Given the description of an element on the screen output the (x, y) to click on. 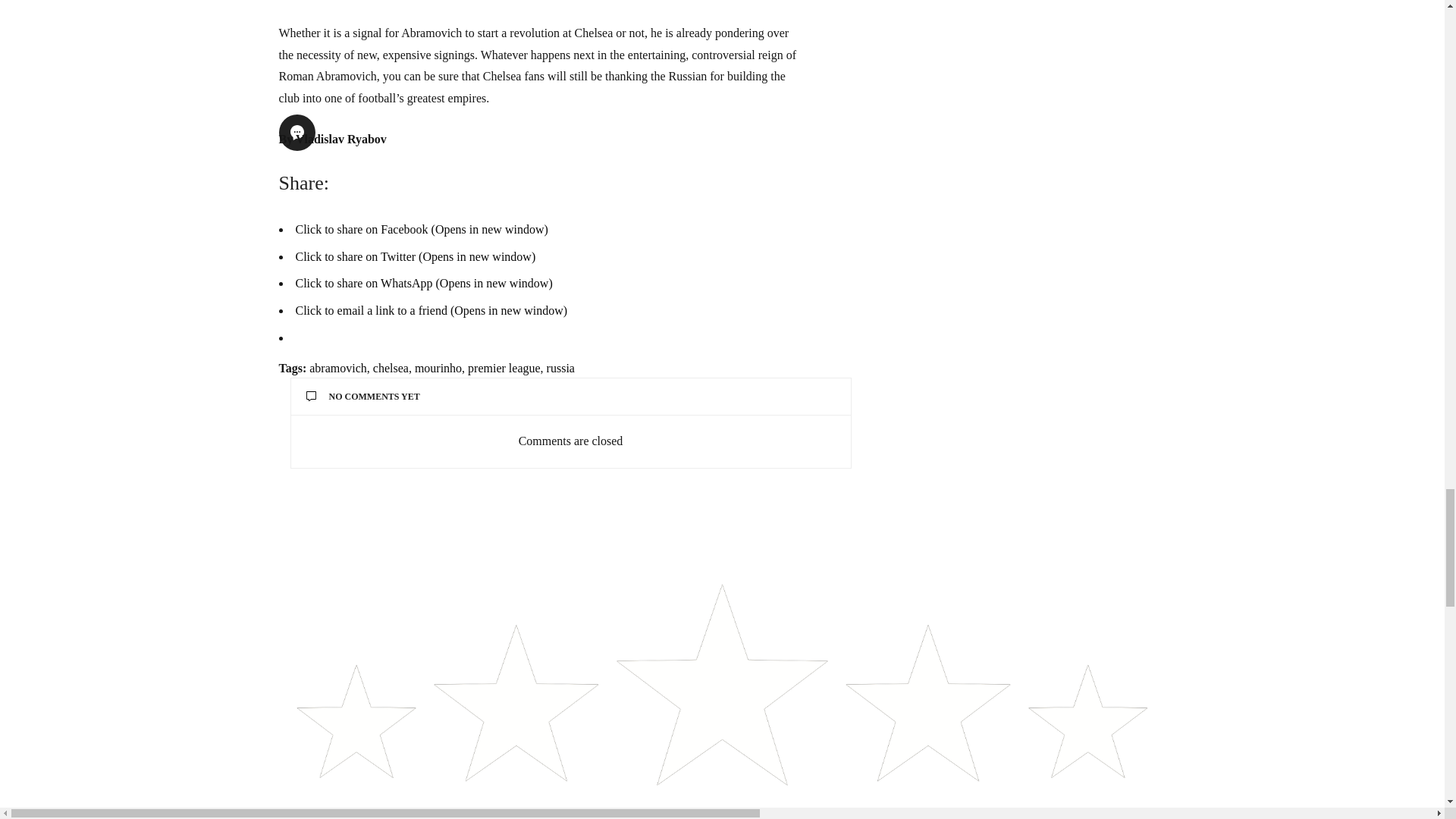
Click to share on WhatsApp (424, 282)
Click to share on Twitter (415, 256)
Click to share on Facebook (421, 228)
Click to email a link to a friend (431, 309)
